Given the description of an element on the screen output the (x, y) to click on. 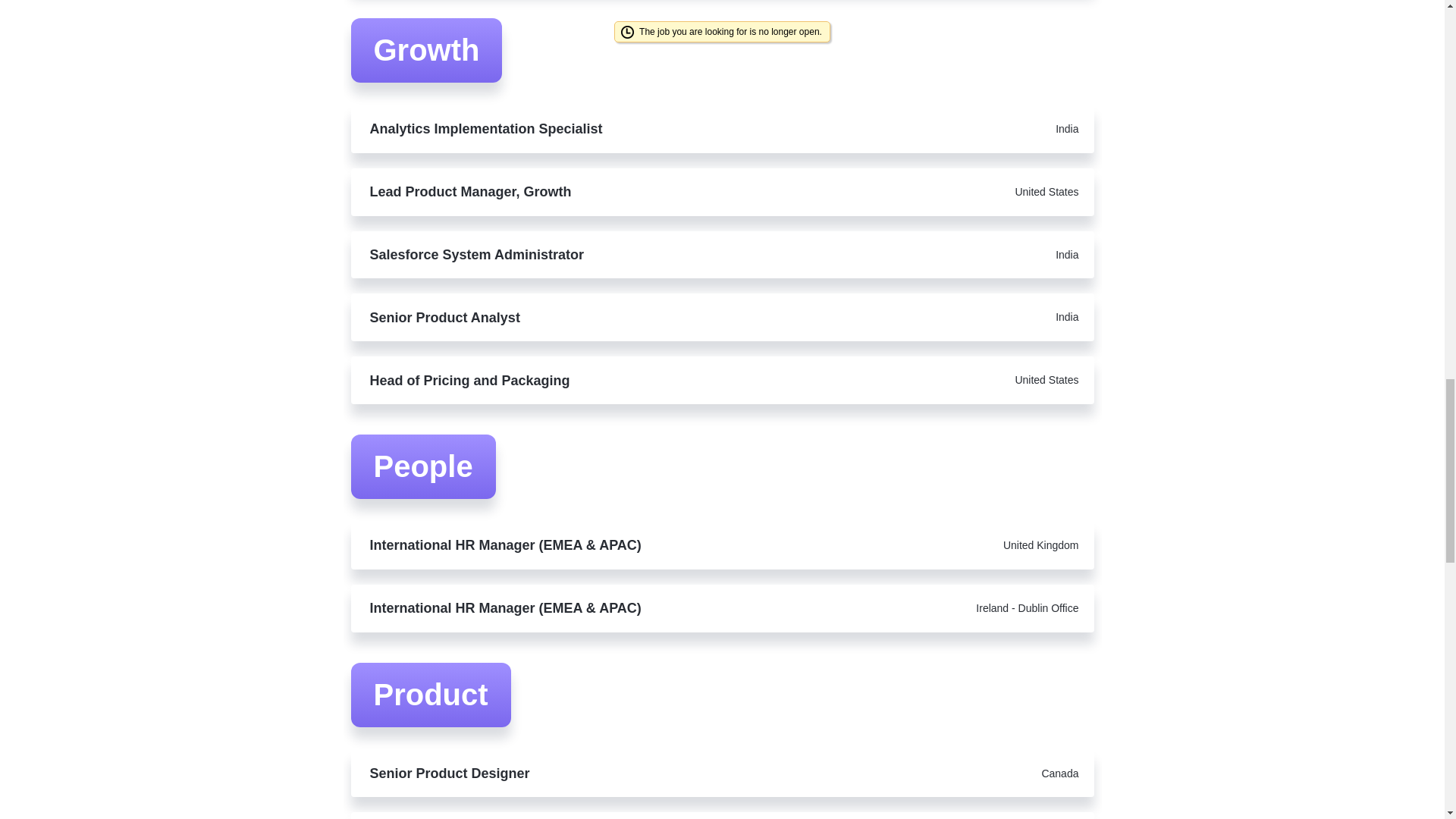
Senior Product Analyst (617, 317)
Senior Product Designer (617, 773)
Lead Product Manager, Growth (617, 191)
Analytics Implementation Specialist (617, 128)
Head of Pricing and Packaging (617, 380)
Salesforce System Administrator (617, 254)
